Given the description of an element on the screen output the (x, y) to click on. 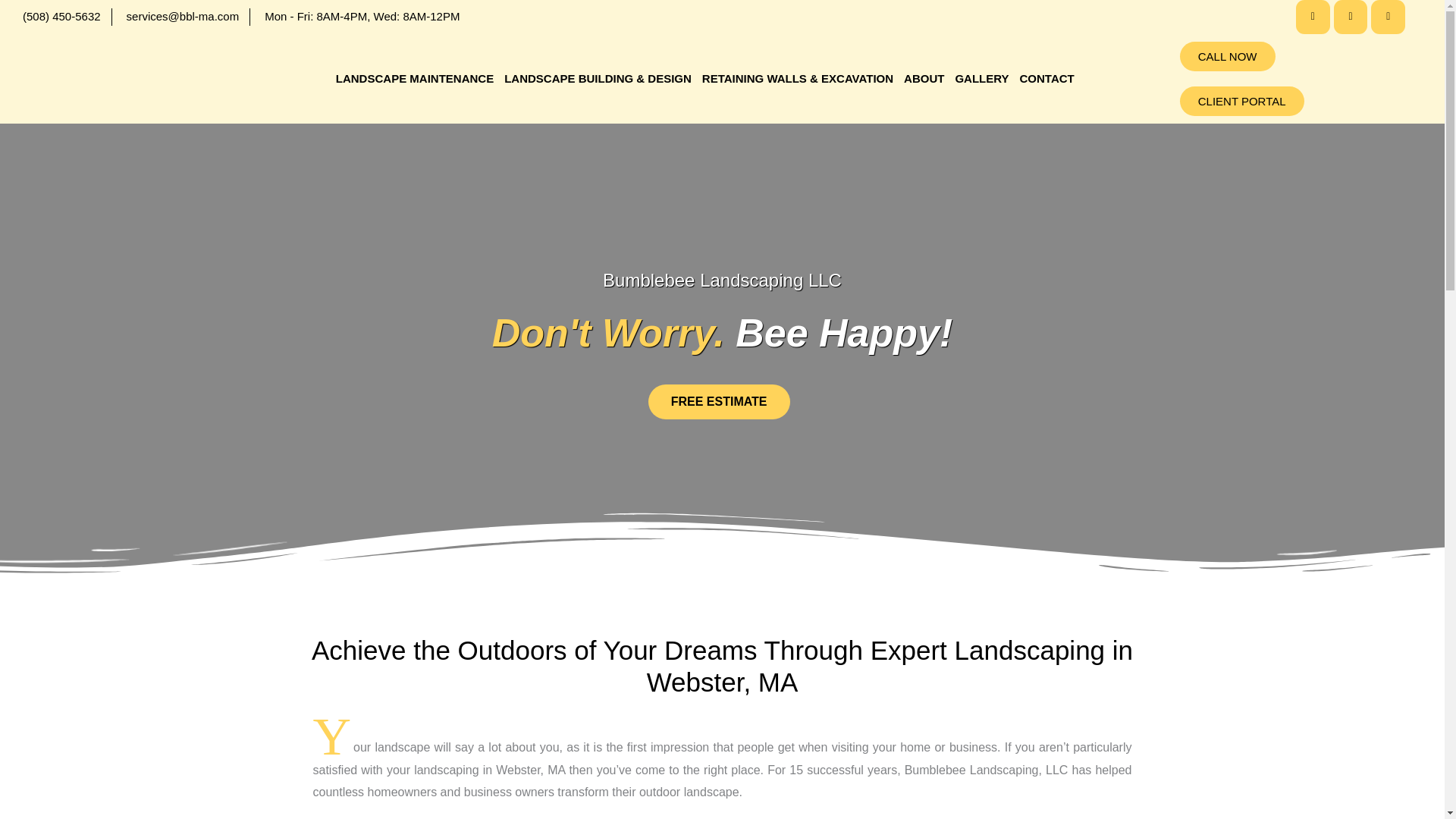
CALL NOW (1227, 56)
GALLERY (981, 78)
Facebook-f (1312, 17)
CLIENT PORTAL (1241, 101)
FREE ESTIMATE (718, 401)
LANDSCAPE MAINTENANCE (414, 78)
CONTACT (1047, 78)
ABOUT (923, 78)
Home (1388, 17)
Instagram (1350, 17)
